Given the description of an element on the screen output the (x, y) to click on. 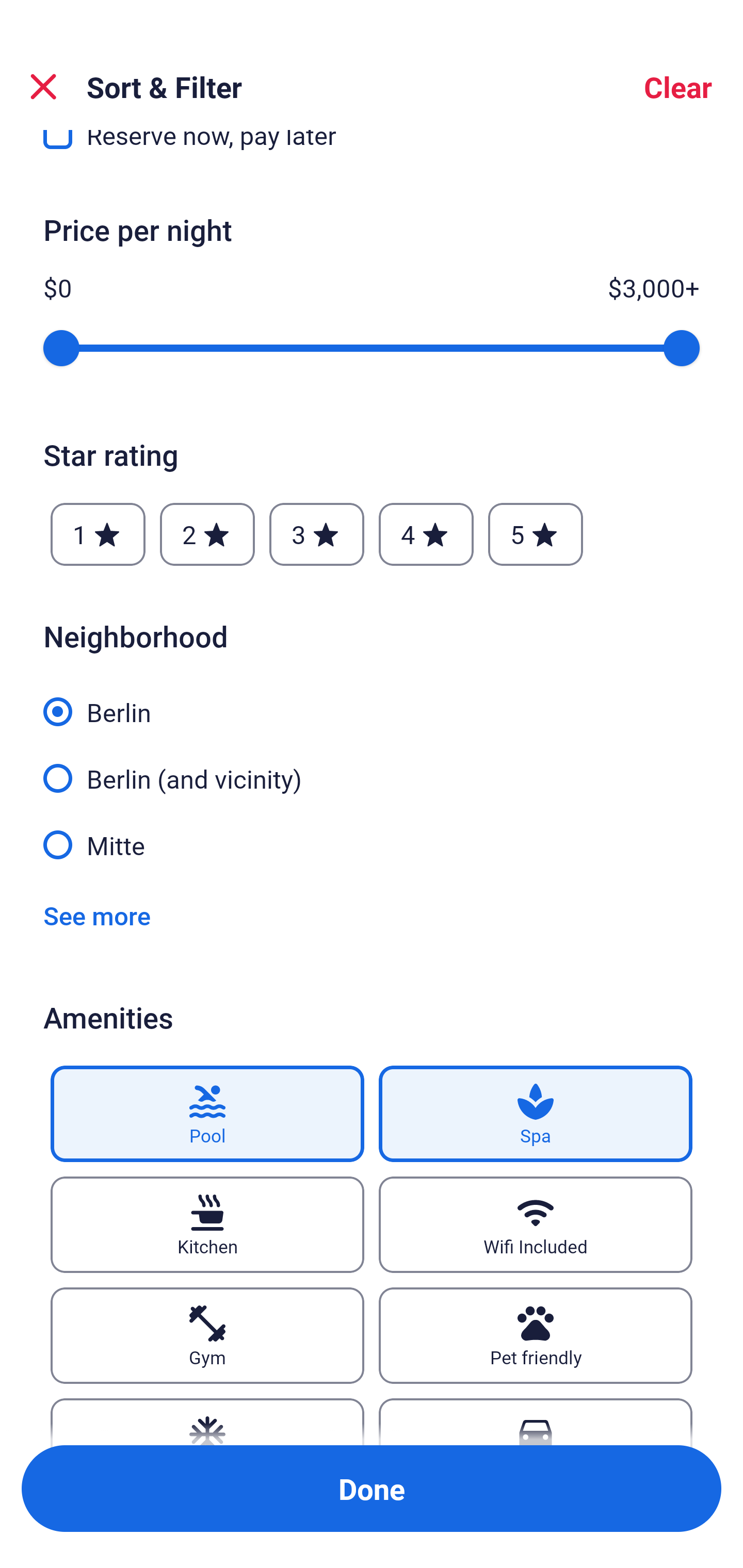
Close Sort and Filter (43, 86)
Clear (677, 86)
1 (97, 533)
2 (206, 533)
3 (316, 533)
4 (426, 533)
5 (535, 533)
Berlin (and vicinity) (371, 767)
Mitte (371, 844)
See more See more neighborhoods Link (96, 915)
Pool (207, 1113)
Spa (535, 1113)
Kitchen (207, 1224)
Wifi Included (535, 1224)
Gym (207, 1335)
Pet friendly (535, 1335)
Apply and close Sort and Filter Done (371, 1488)
